Given the description of an element on the screen output the (x, y) to click on. 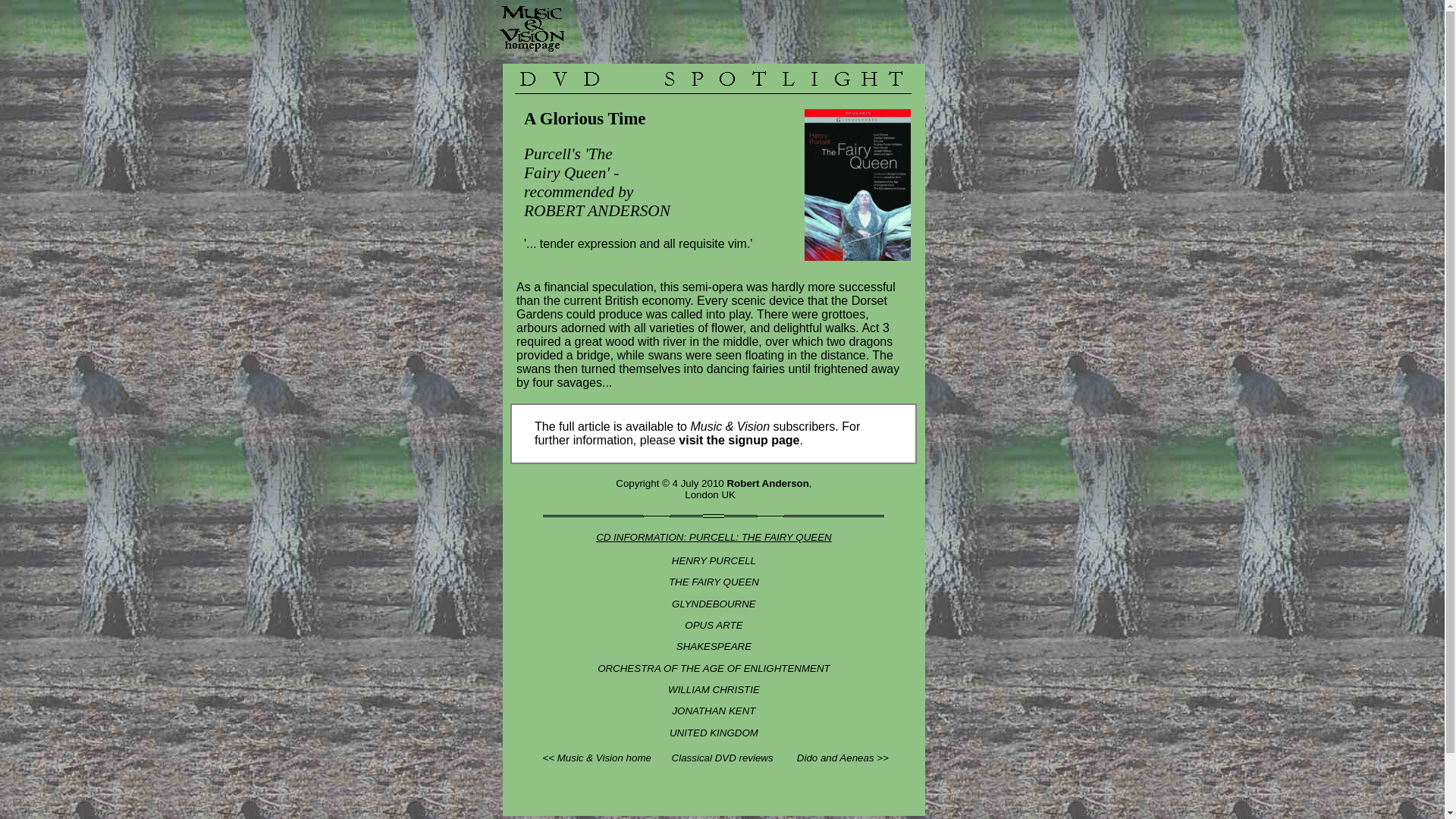
THE FAIRY QUEEN (713, 582)
OPUS ARTE (713, 624)
British (622, 300)
HENRY PURCELL (713, 560)
Robert Anderson (767, 482)
WILLIAM CHRISTIE (714, 689)
JONATHAN KENT (713, 710)
financial (565, 286)
CD INFORMATION: PURCELL: THE FAIRY QUEEN (713, 536)
ORCHESTRA OF THE AGE OF ENLIGHTENMENT (712, 668)
